Given the description of an element on the screen output the (x, y) to click on. 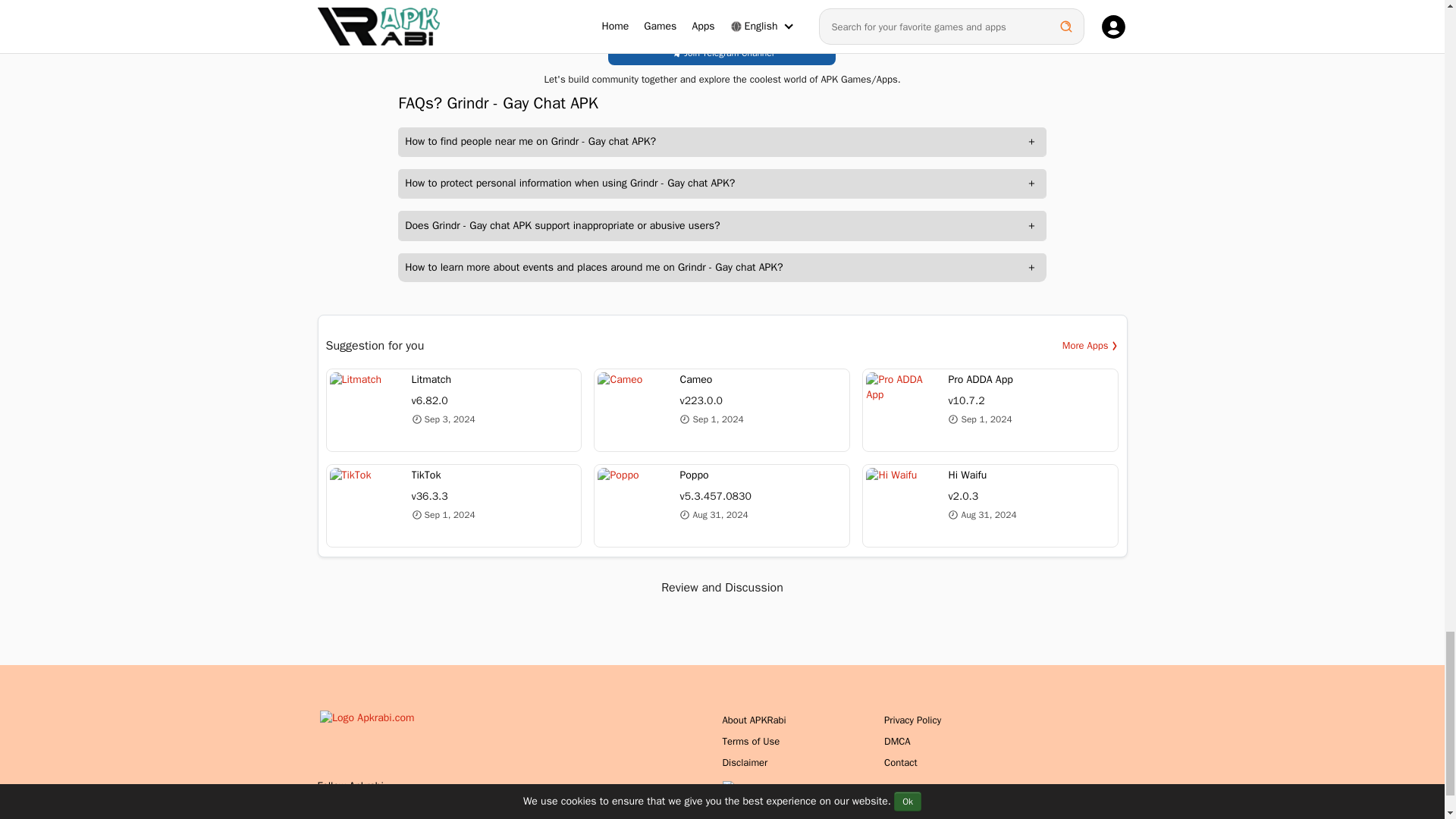
TikTok (454, 505)
Contact (900, 762)
Terms of Use (750, 740)
DMCA (897, 740)
Privacy Policy (911, 719)
Poppo (722, 505)
Hi Waifu (989, 505)
Cameo (722, 410)
Disclaimer (744, 762)
Litmatch (454, 410)
